Given the description of an element on the screen output the (x, y) to click on. 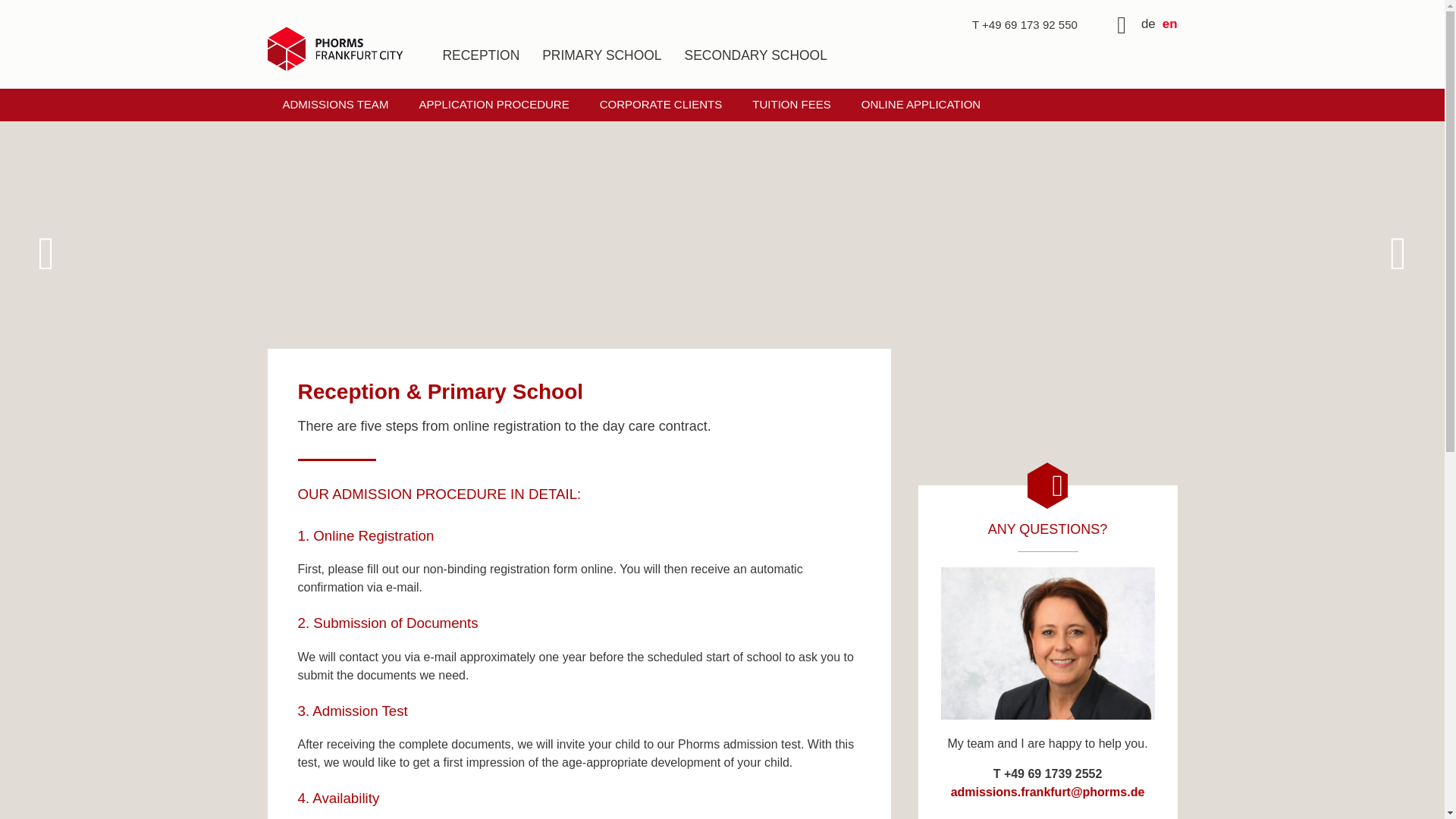
RECEPTION (480, 65)
Telefonnummer (1024, 24)
de (1148, 23)
en (1169, 23)
PRIMARY SCHOOL (601, 65)
